Given the description of an element on the screen output the (x, y) to click on. 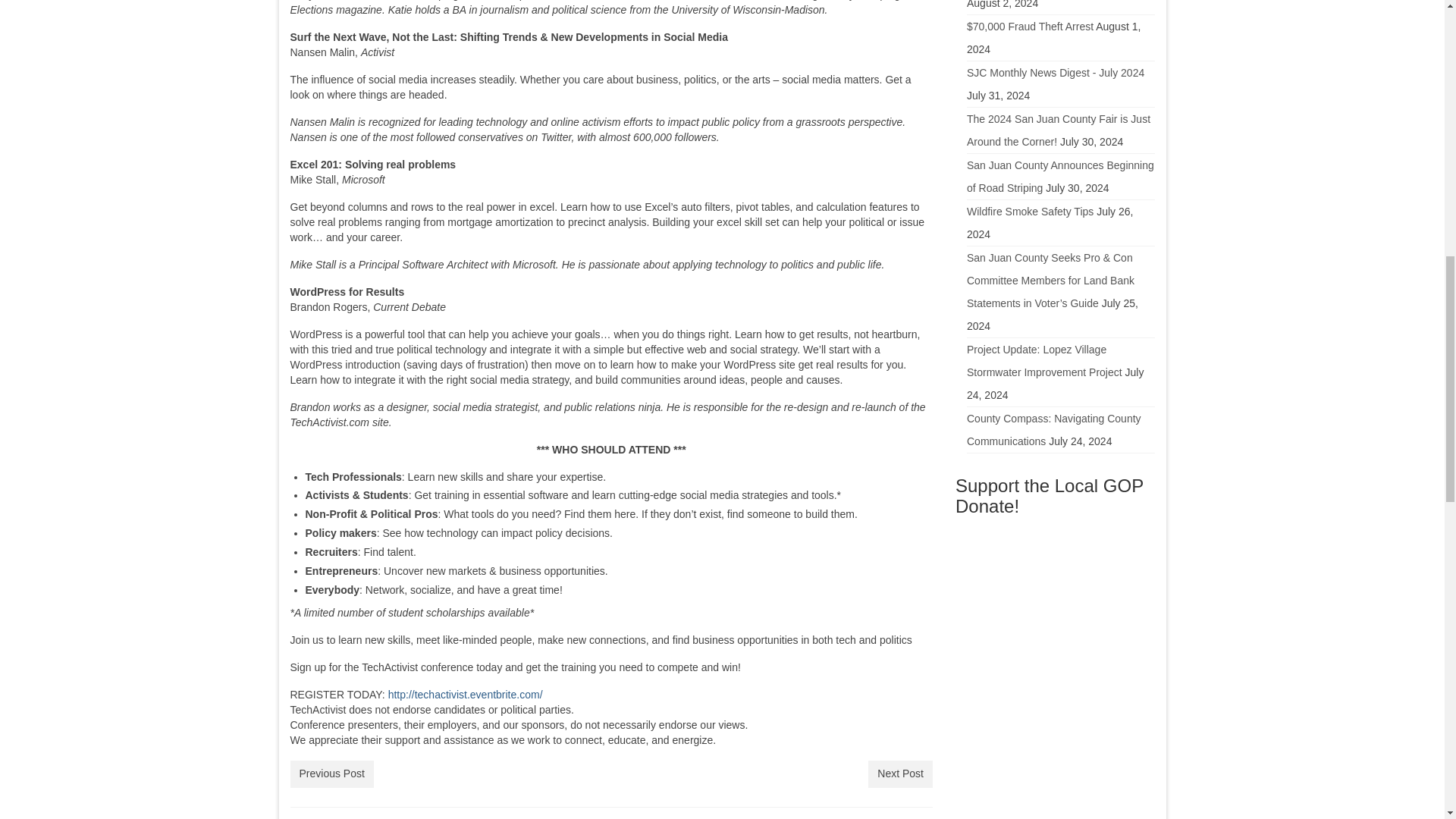
Previous Post (330, 773)
Next Post (900, 773)
